Given the description of an element on the screen output the (x, y) to click on. 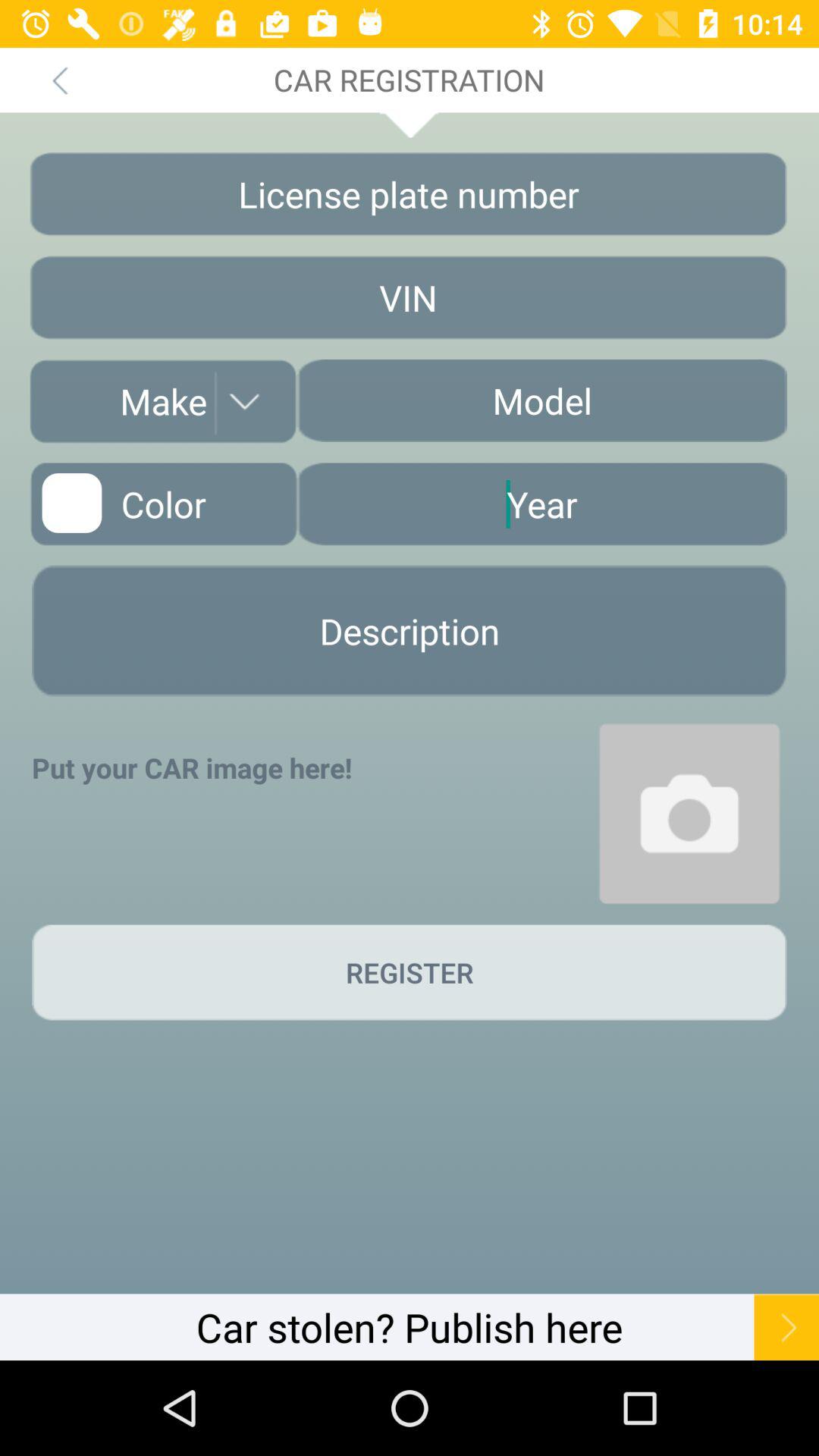
enter vin number for car (408, 297)
